Given the description of an element on the screen output the (x, y) to click on. 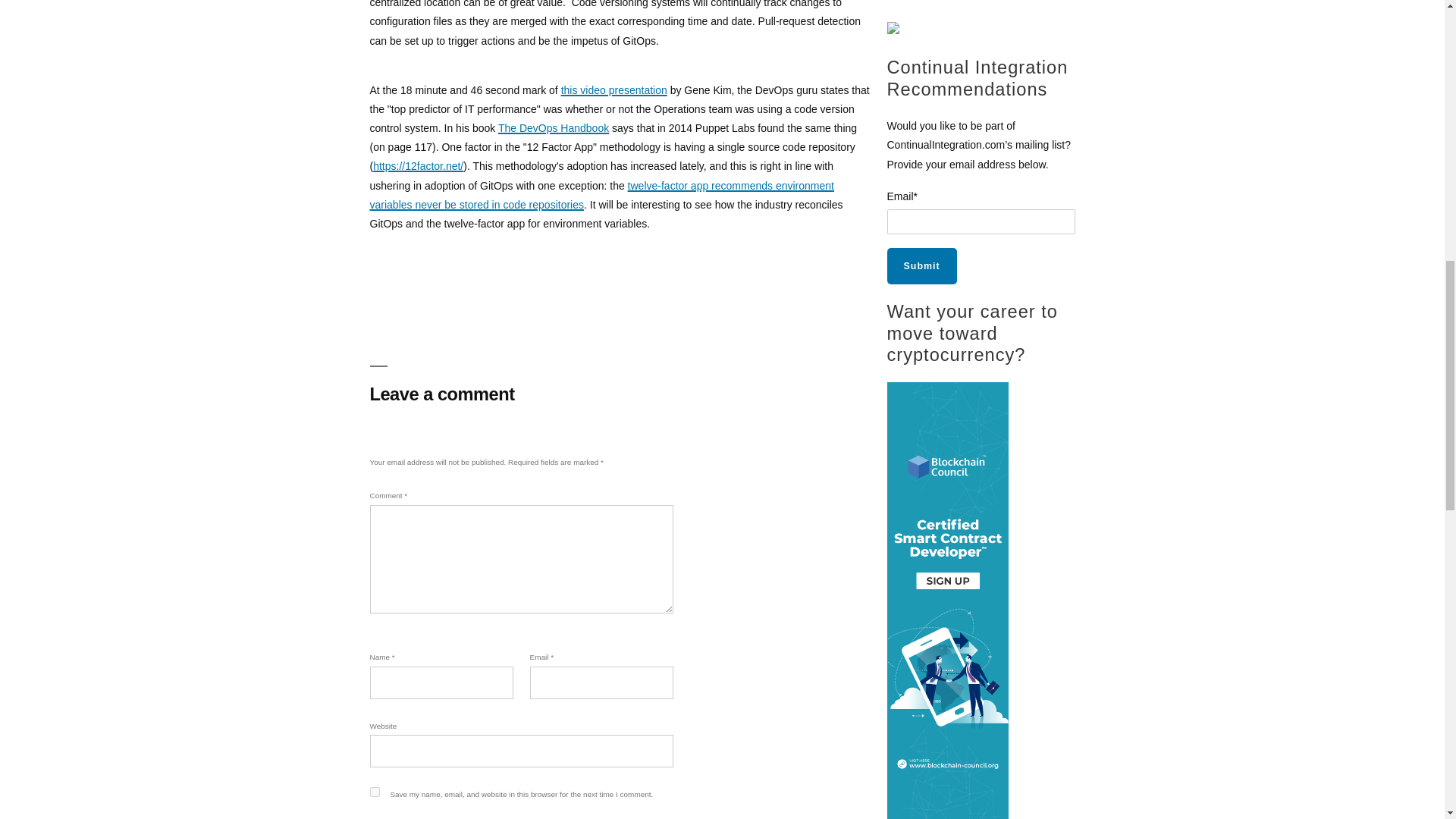
Certified Blockchain Expert (892, 30)
Submit (921, 266)
The DevOps Handbook (552, 128)
this video presentation (613, 90)
Submit (921, 266)
yes (374, 791)
